Given the description of an element on the screen output the (x, y) to click on. 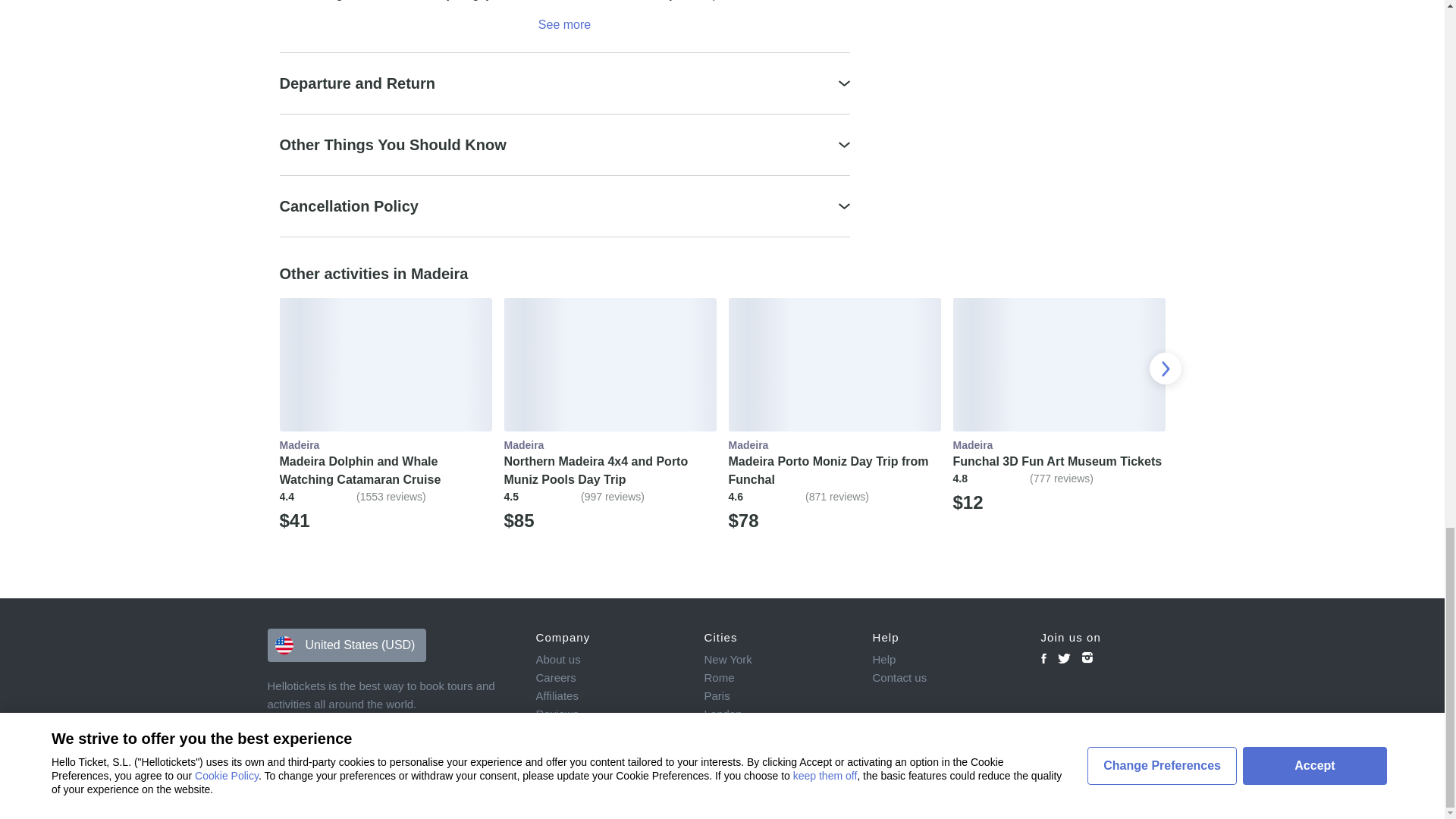
Careers (608, 678)
See more (563, 24)
Reviews (608, 714)
About us (608, 659)
Privacy (608, 732)
Affiliates (608, 696)
